Given the description of an element on the screen output the (x, y) to click on. 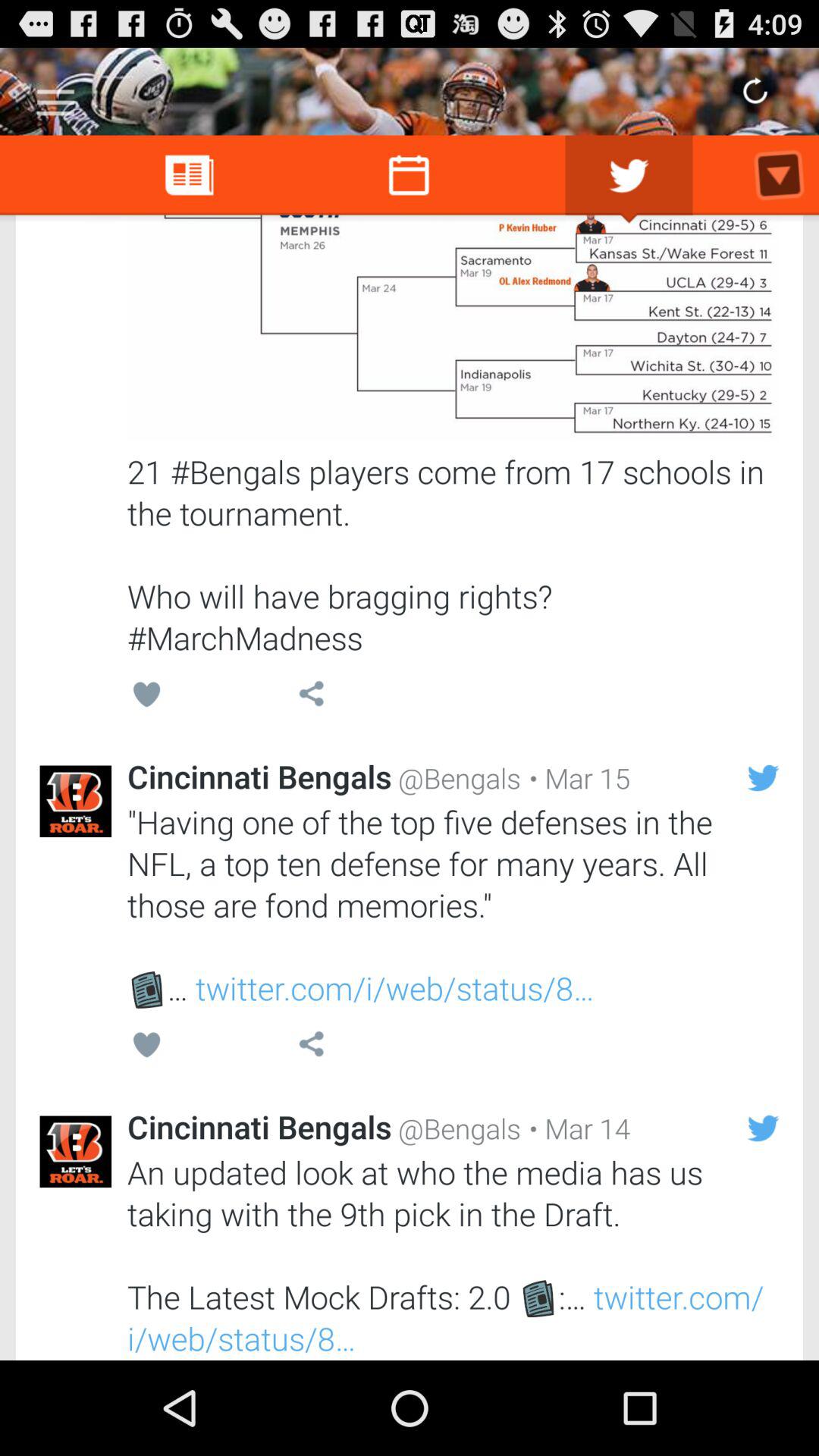
flashing yellow flashing over a players tree (453, 327)
